Given the description of an element on the screen output the (x, y) to click on. 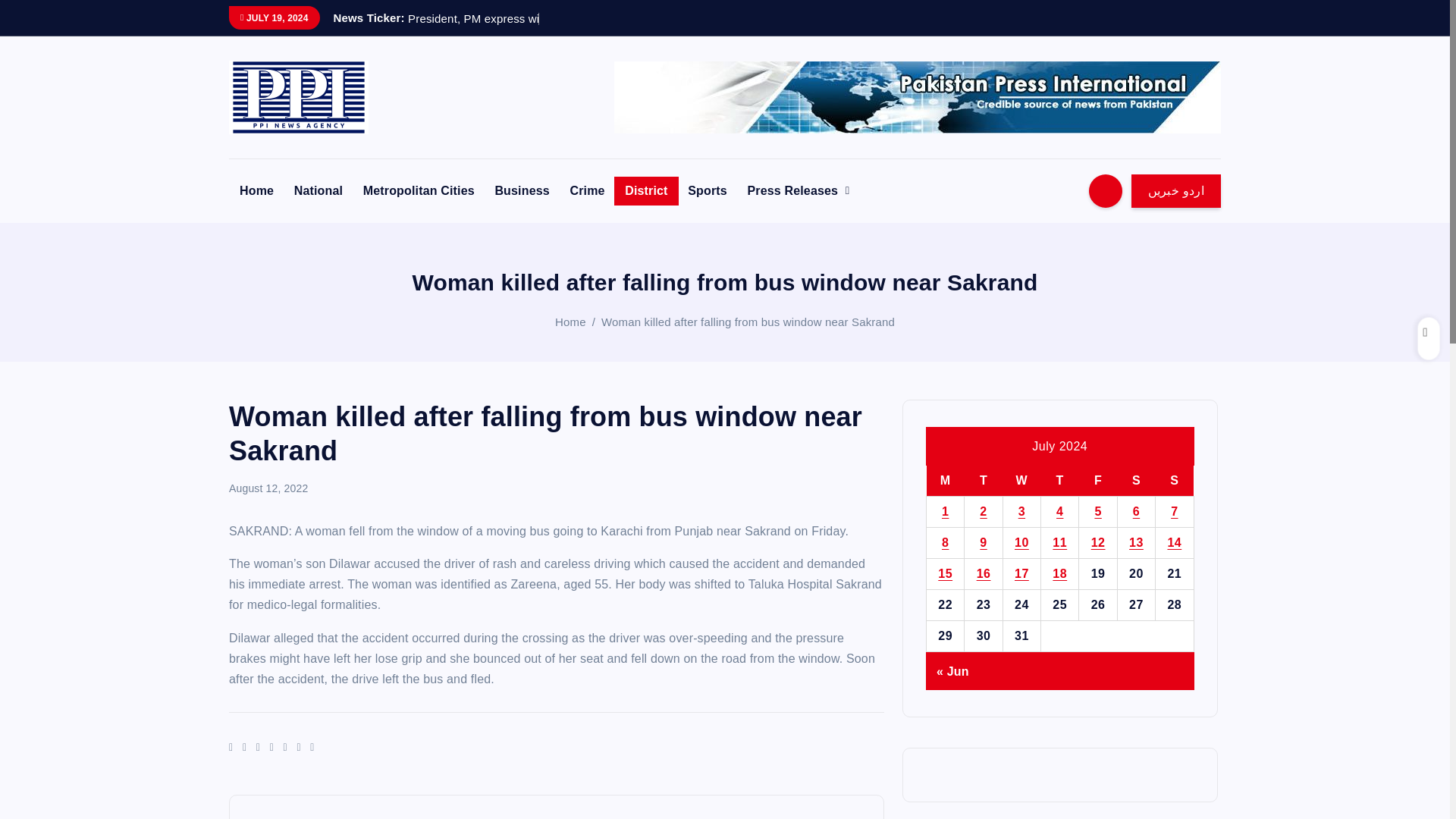
Press Releases (798, 190)
Metropolitan Cities (418, 190)
Sports (707, 190)
Crime (586, 190)
Metropolitan Cities (418, 190)
Woman killed after falling from bus window near Sakrand (748, 321)
Press Releases (798, 190)
Home (255, 190)
District (646, 190)
Business (521, 190)
Business (521, 190)
Home (570, 321)
National (318, 190)
District (646, 190)
National (318, 190)
